Given the description of an element on the screen output the (x, y) to click on. 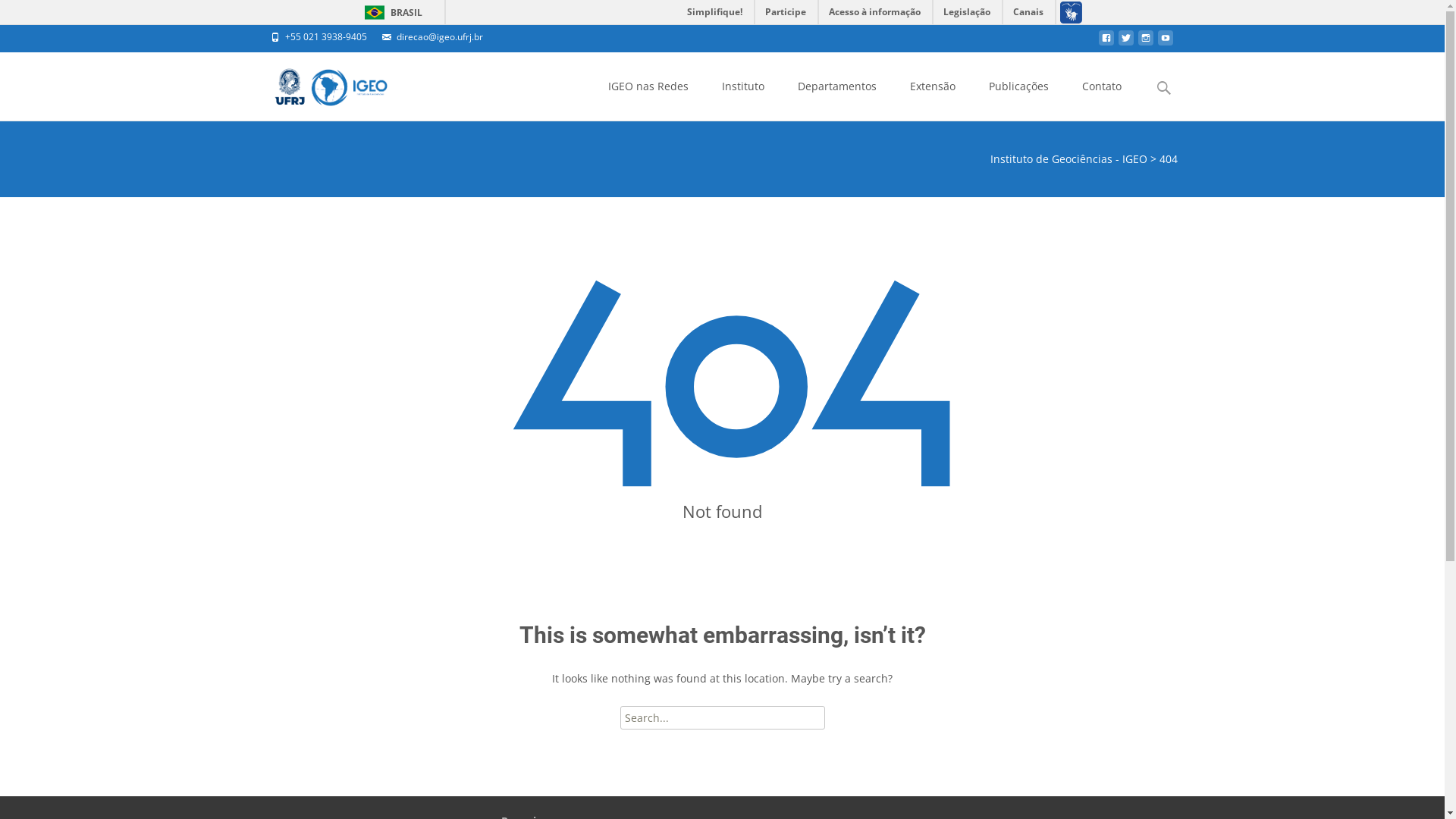
BRASIL Element type: text (373, 12)
Skip to content Element type: text (591, 51)
IGEO nas Redes Element type: text (648, 86)
instagram Element type: hover (1144, 41)
404 Element type: text (1167, 158)
Contato Element type: text (1100, 86)
Search Element type: text (18, 15)
youtube Element type: hover (1164, 41)
Search for: Element type: hover (1163, 88)
Search Element type: text (35, 15)
facebook Element type: hover (1105, 41)
twitter Element type: hover (1124, 41)
Departamentos Element type: text (836, 86)
Search for: Element type: hover (722, 717)
Instituto Element type: text (742, 86)
